Given the description of an element on the screen output the (x, y) to click on. 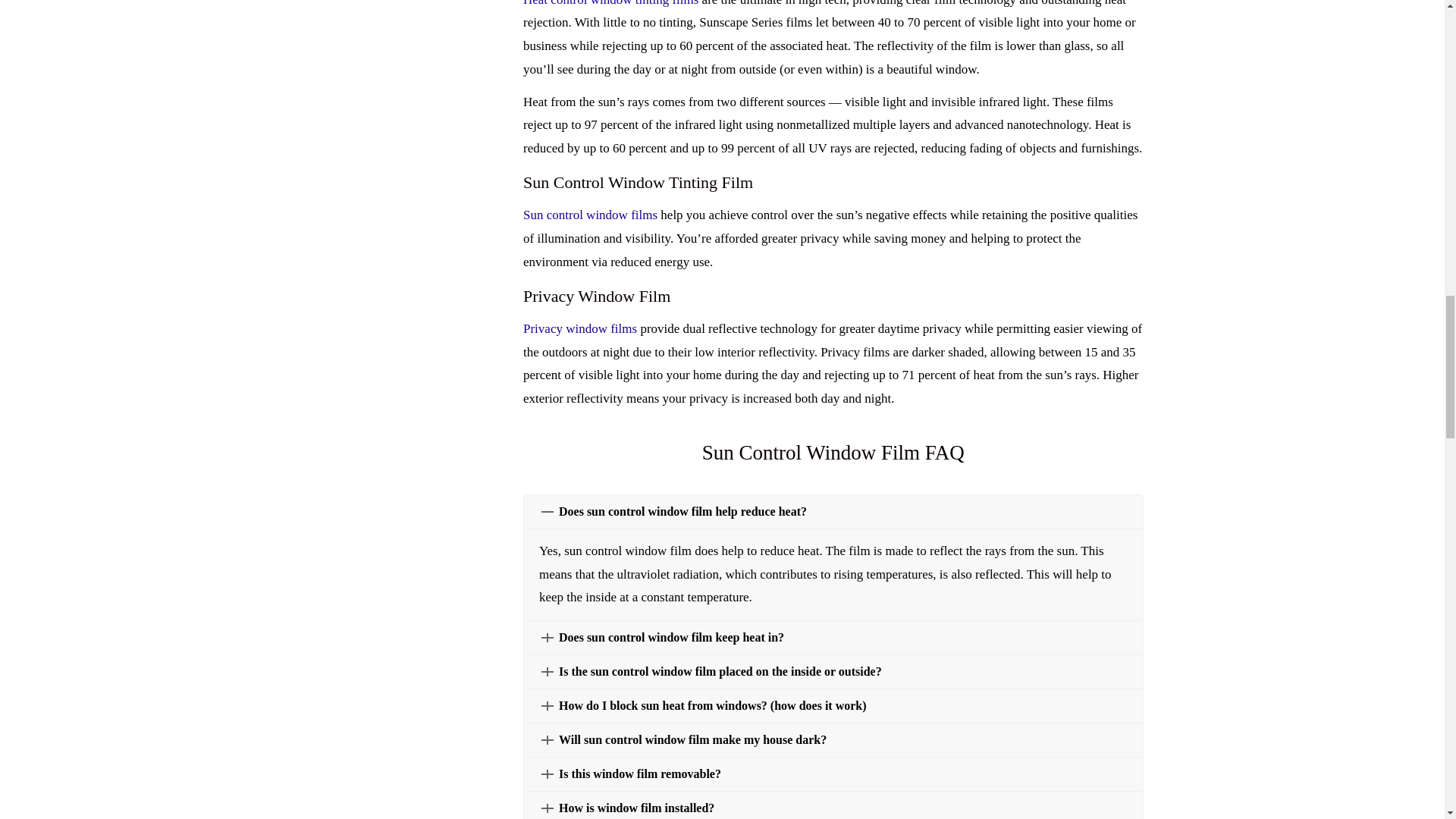
Heat control window tinting films (610, 3)
Does sun control window film help reduce heat? (833, 511)
Sun control window films (590, 214)
Does sun control window film keep heat in? (833, 637)
Privacy window films (579, 328)
